Given the description of an element on the screen output the (x, y) to click on. 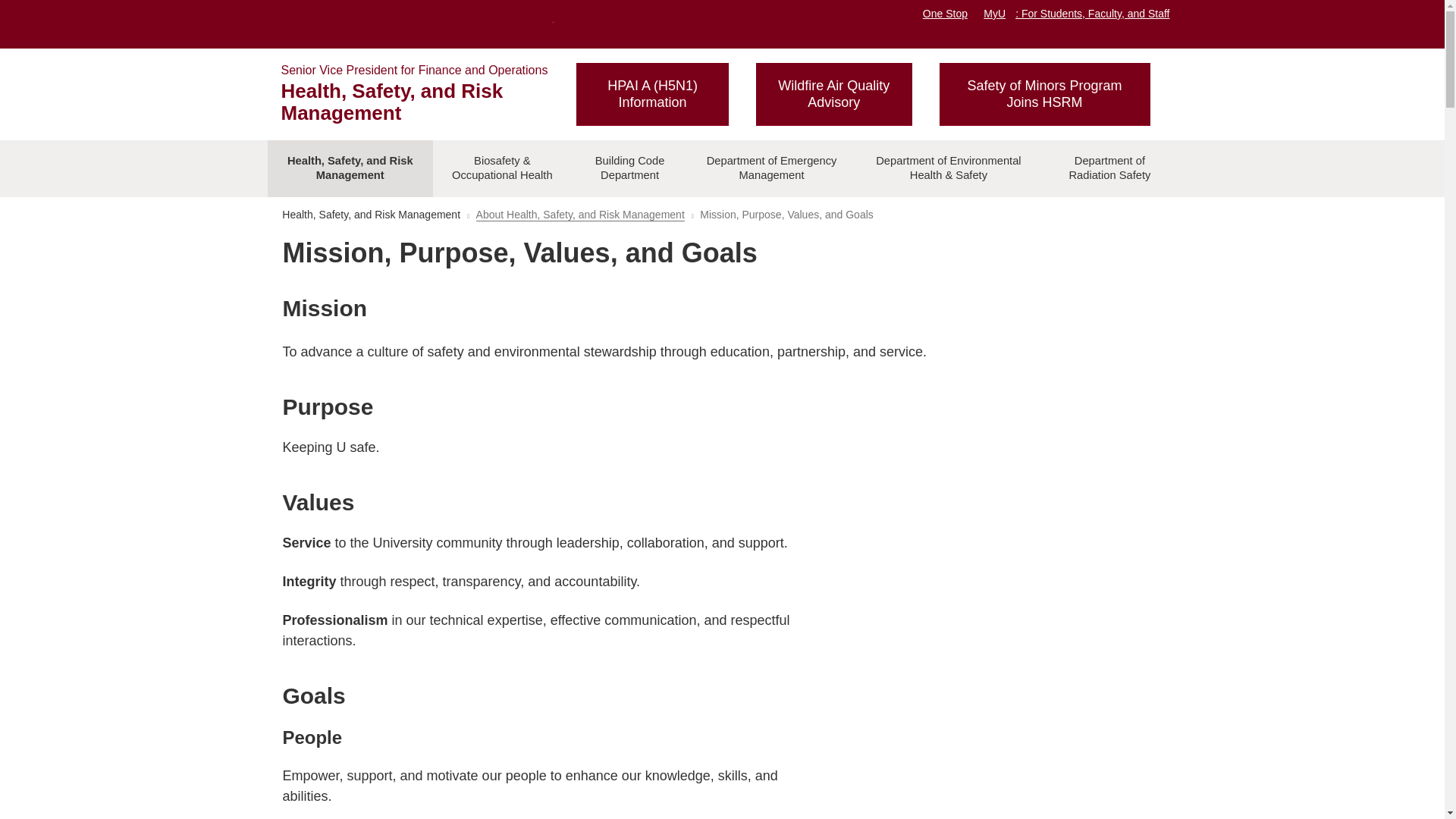
MyU: For Students, Faculty, and Staff (1076, 13)
Wildfire Air Quality Advisory (833, 94)
Safety of Minors Program Joins HSRM (1044, 94)
Health, Safety, and Risk Management (391, 102)
One Stop (945, 13)
